Given the description of an element on the screen output the (x, y) to click on. 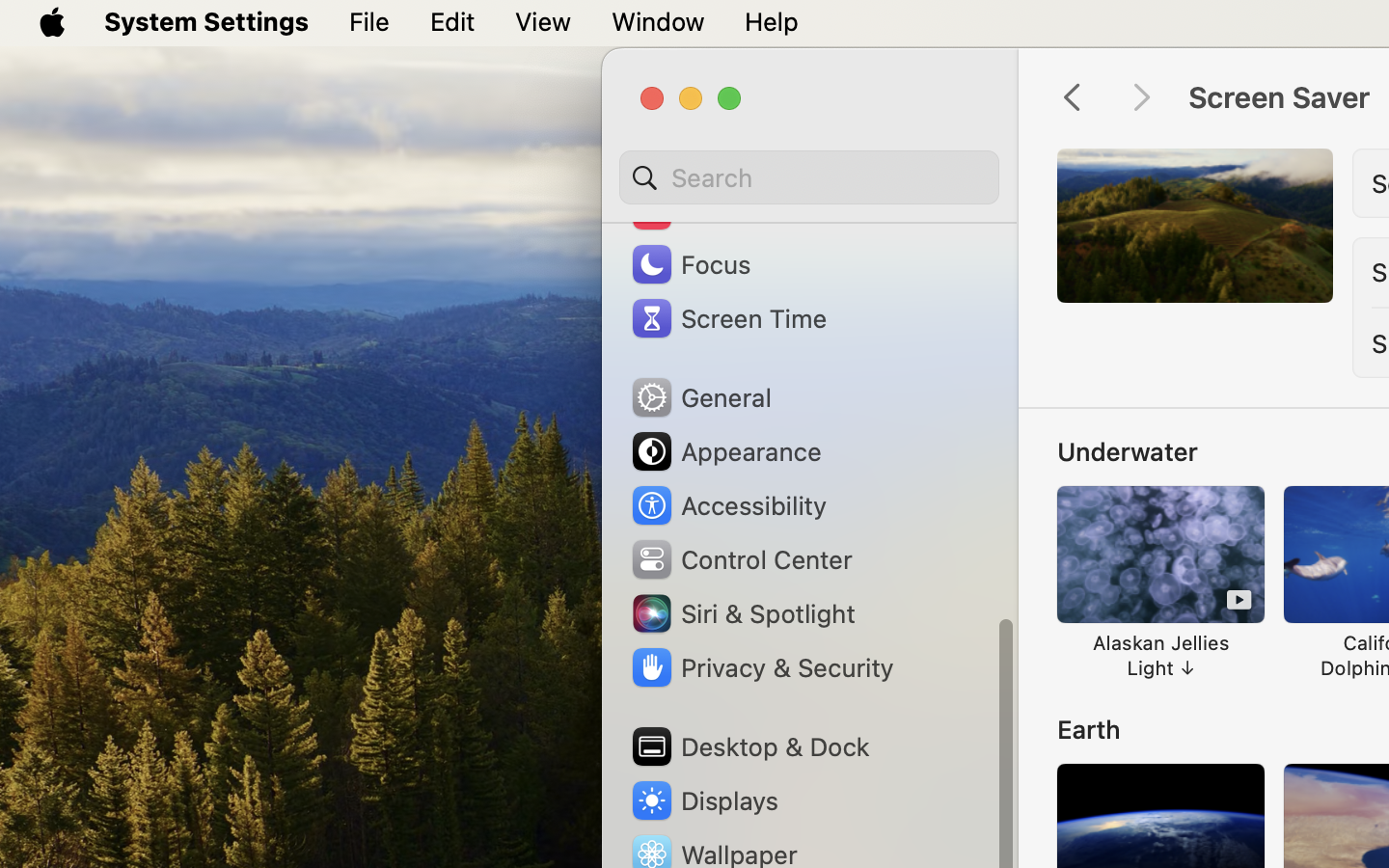
Underwater Element type: AXStaticText (1127, 450)
Accessibility Element type: AXStaticText (727, 505)
Displays Element type: AXStaticText (703, 800)
Control Center Element type: AXStaticText (740, 559)
